Given the description of an element on the screen output the (x, y) to click on. 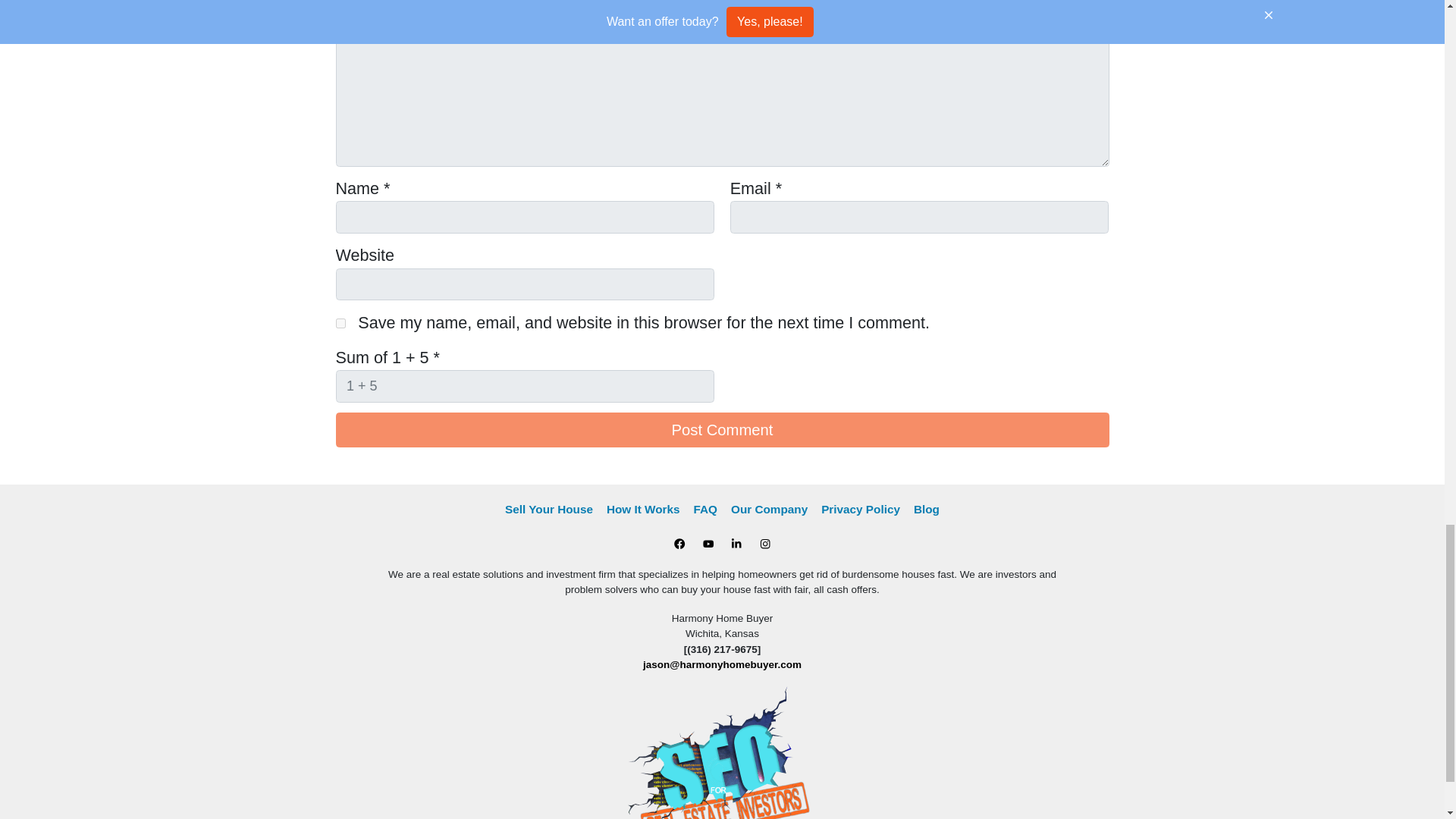
Sell Your House (548, 508)
Facebook (678, 544)
Post Comment (721, 429)
YouTube (707, 544)
Post Comment (721, 429)
Privacy Policy (860, 508)
FAQ (705, 508)
LinkedIn (735, 544)
yes (339, 323)
How It Works (643, 508)
Blog (926, 508)
Instagram (764, 544)
Our Company (768, 508)
